Given the description of an element on the screen output the (x, y) to click on. 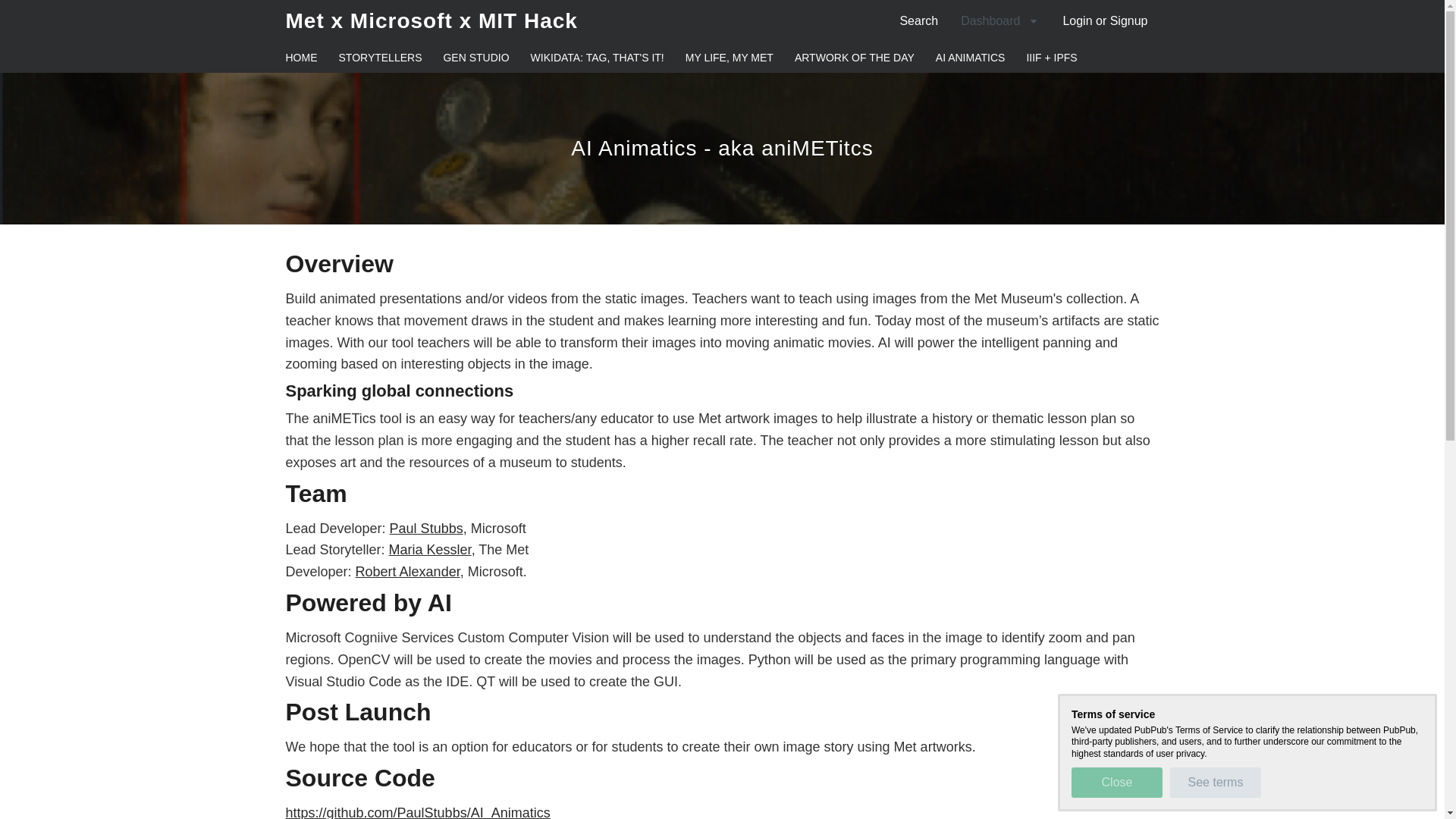
AI ANIMATICS (971, 57)
STORYTELLERS (379, 57)
Paul Stubbs (426, 528)
Maria Kessler (429, 549)
WIKIDATA: TAG, THAT'S IT! (597, 57)
HOME (301, 57)
Login or Signup (1104, 20)
MY LIFE, MY MET (729, 57)
GEN STUDIO (475, 57)
Met x Microsoft x MIT Hack (430, 20)
Search (918, 20)
Robert Alexander (407, 571)
See terms (1215, 782)
Dashboard (1000, 20)
ARTWORK OF THE DAY (854, 57)
